Given the description of an element on the screen output the (x, y) to click on. 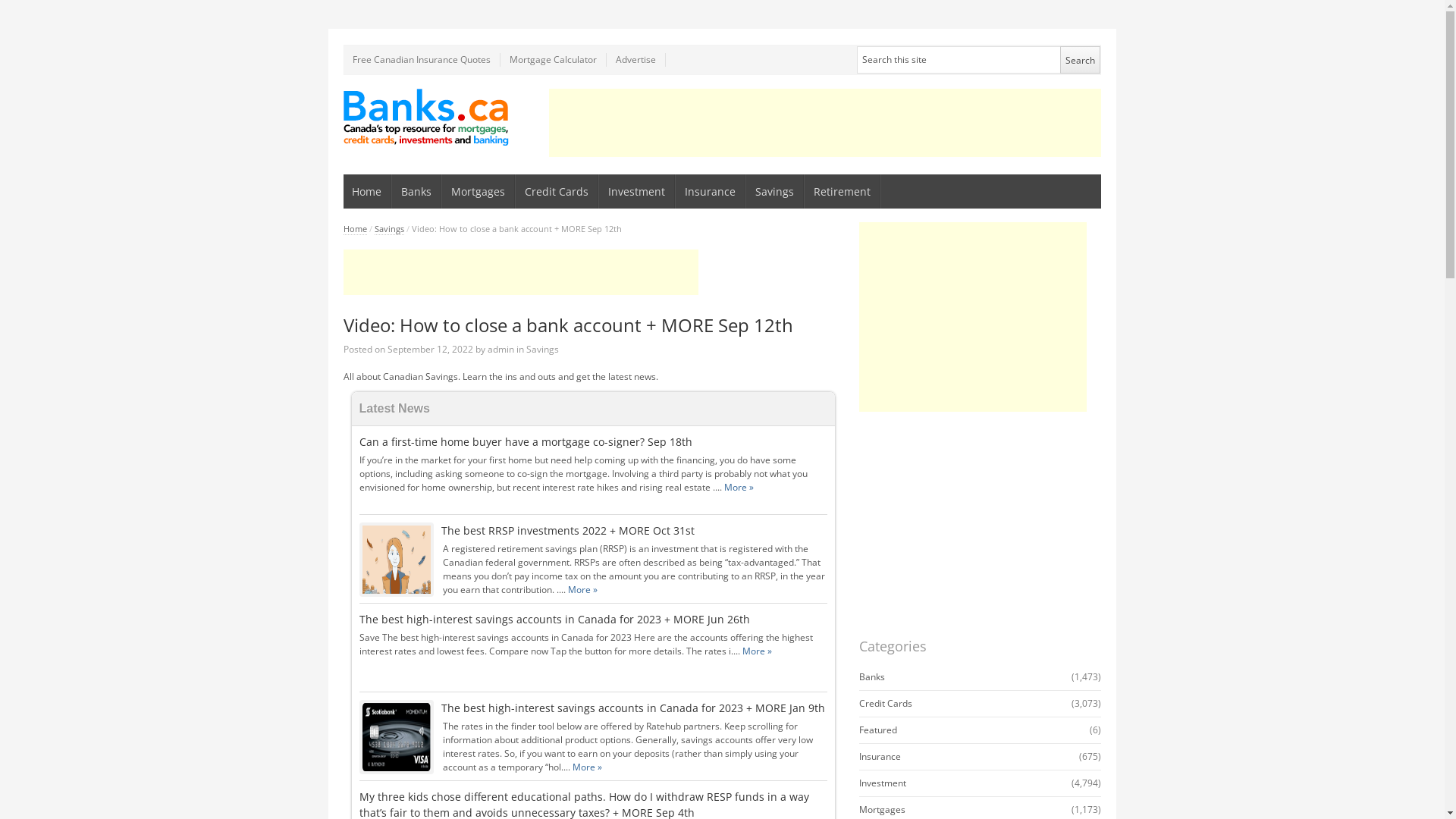
Home Element type: text (354, 228)
admin Element type: text (499, 348)
Home Element type: text (366, 191)
Credit Cards Element type: text (556, 191)
Mortgage Calculator Element type: text (553, 59)
Investment Element type: text (881, 782)
The best RRSP investments 2022 + MORE Oct 31st Element type: text (567, 530)
Free Canadian Insurance Quotes Element type: text (420, 59)
Banks in Canada Element type: hover (425, 116)
Mortgages Element type: text (478, 191)
Banks Element type: text (871, 676)
Search Element type: text (1080, 59)
Credit Cards Element type: text (884, 702)
Savings Element type: text (774, 191)
Savings Element type: text (542, 348)
Featured Element type: text (877, 729)
Advertise Element type: text (635, 59)
Banks Element type: text (416, 191)
September 12, 2022 Element type: text (429, 348)
Mortgages Element type: text (881, 809)
Insurance Element type: text (710, 191)
Advertisement Element type: hover (825, 122)
Investment Element type: text (636, 191)
Insurance Element type: text (879, 755)
Savings Element type: text (389, 228)
Advertisement Element type: hover (971, 316)
Retirement Element type: text (842, 191)
Advertisement Element type: hover (519, 271)
